Given the description of an element on the screen output the (x, y) to click on. 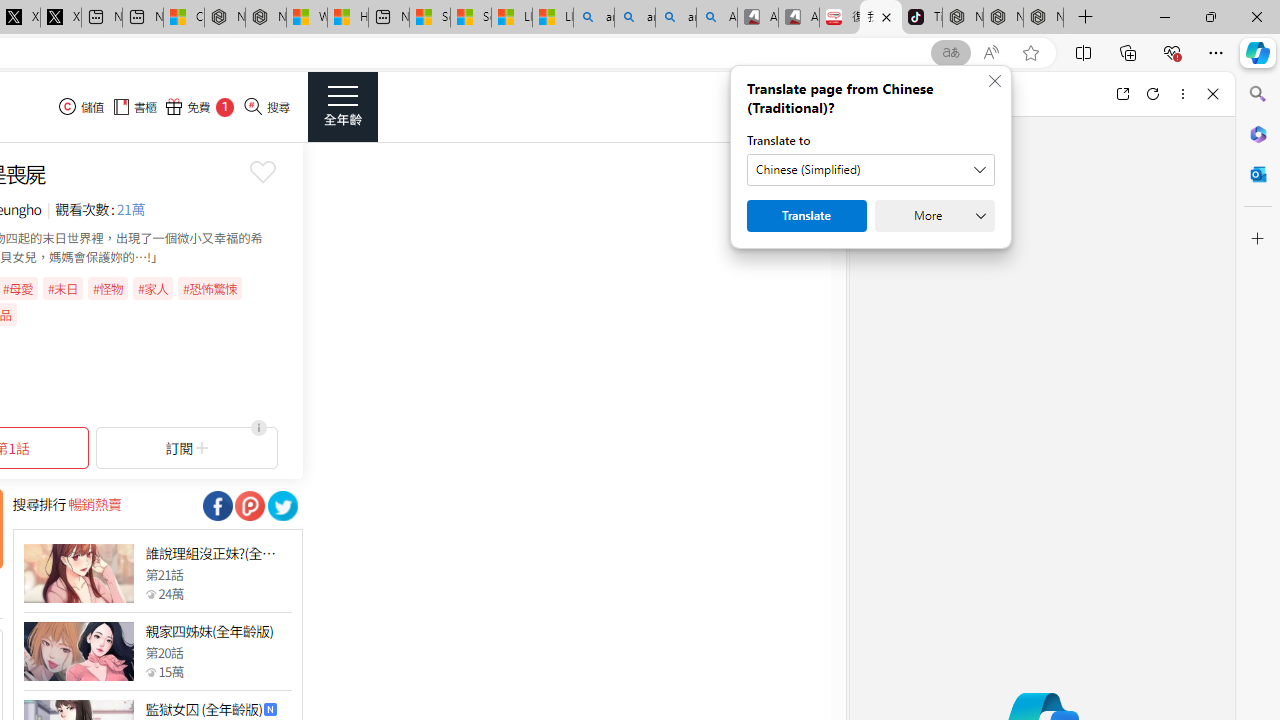
amazon - Search Images (675, 17)
Microsoft 365 (1258, 133)
Nordace - Best Sellers (963, 17)
More (934, 215)
Show translate options (950, 53)
